Given the description of an element on the screen output the (x, y) to click on. 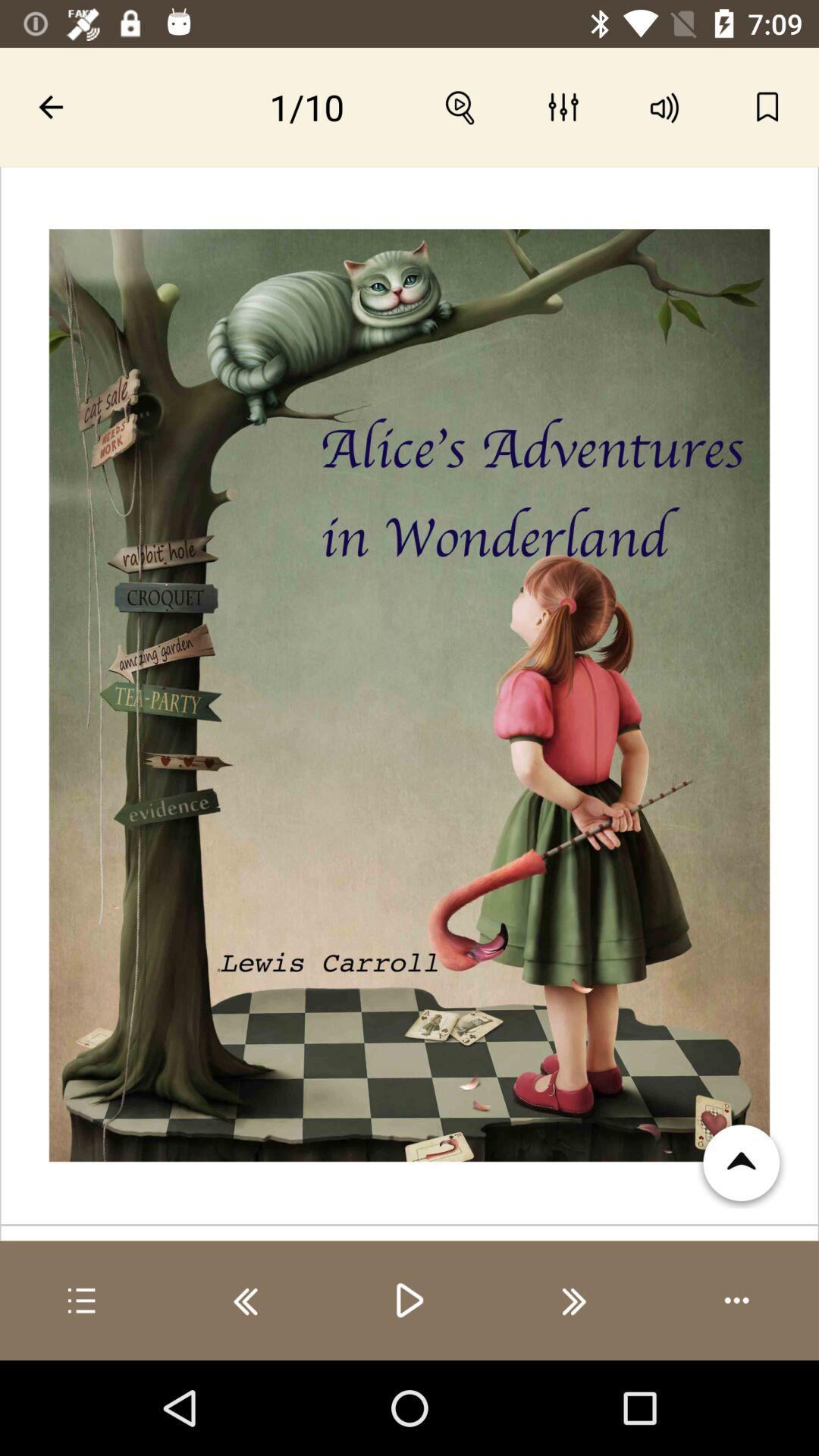
next chapter (573, 1300)
